Given the description of an element on the screen output the (x, y) to click on. 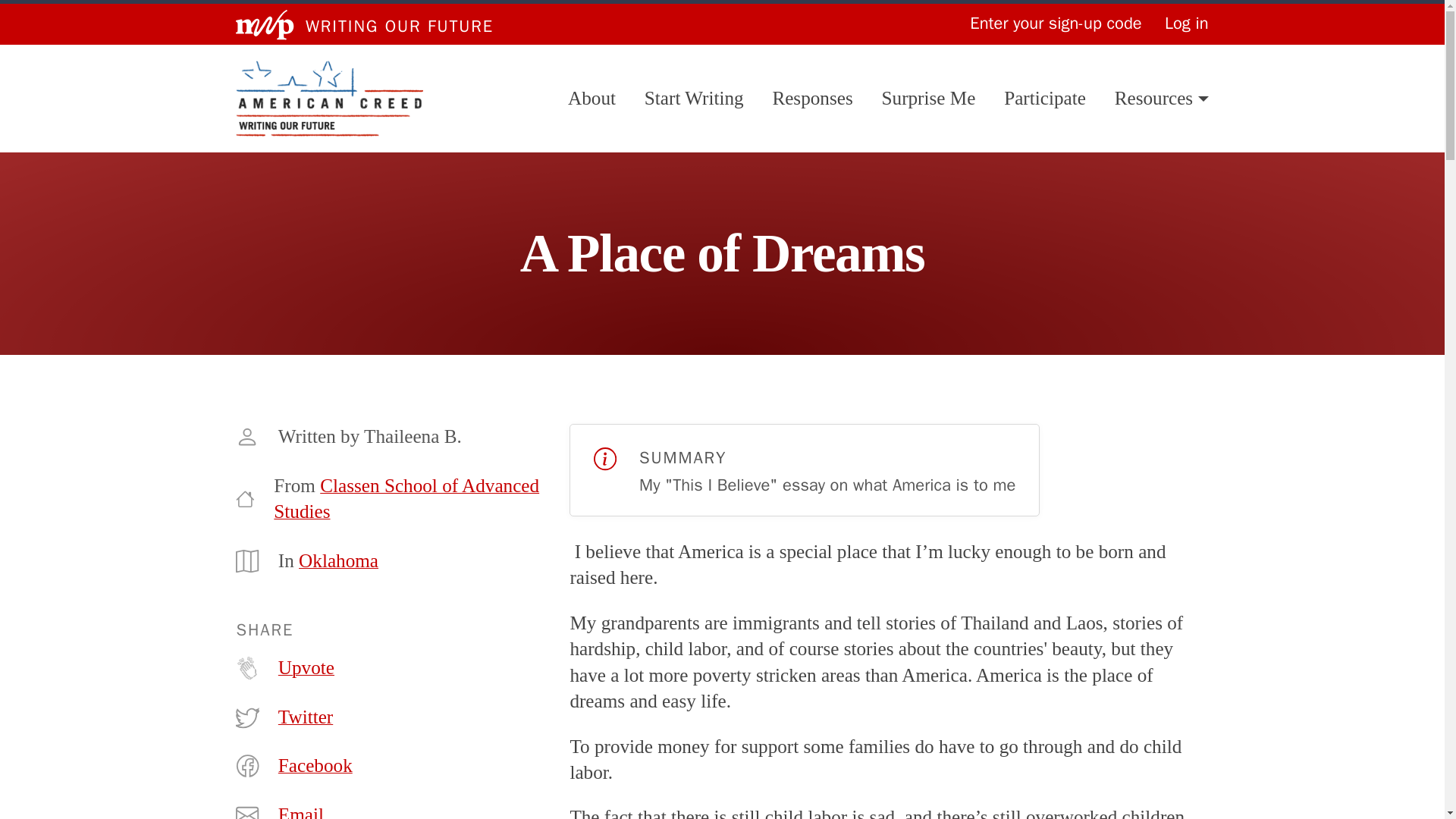
Resources (1161, 98)
Participate (1045, 98)
Email (300, 810)
Twitter (305, 717)
About (591, 98)
Responses (811, 98)
Oklahoma (338, 560)
Enter your sign-up code (1055, 24)
Upvote (306, 667)
National Writing Project (264, 24)
Log in (1186, 24)
Classen School of Advanced Studies (405, 498)
Facebook (315, 765)
Start Writing (694, 98)
Surprise Me (928, 98)
